Given the description of an element on the screen output the (x, y) to click on. 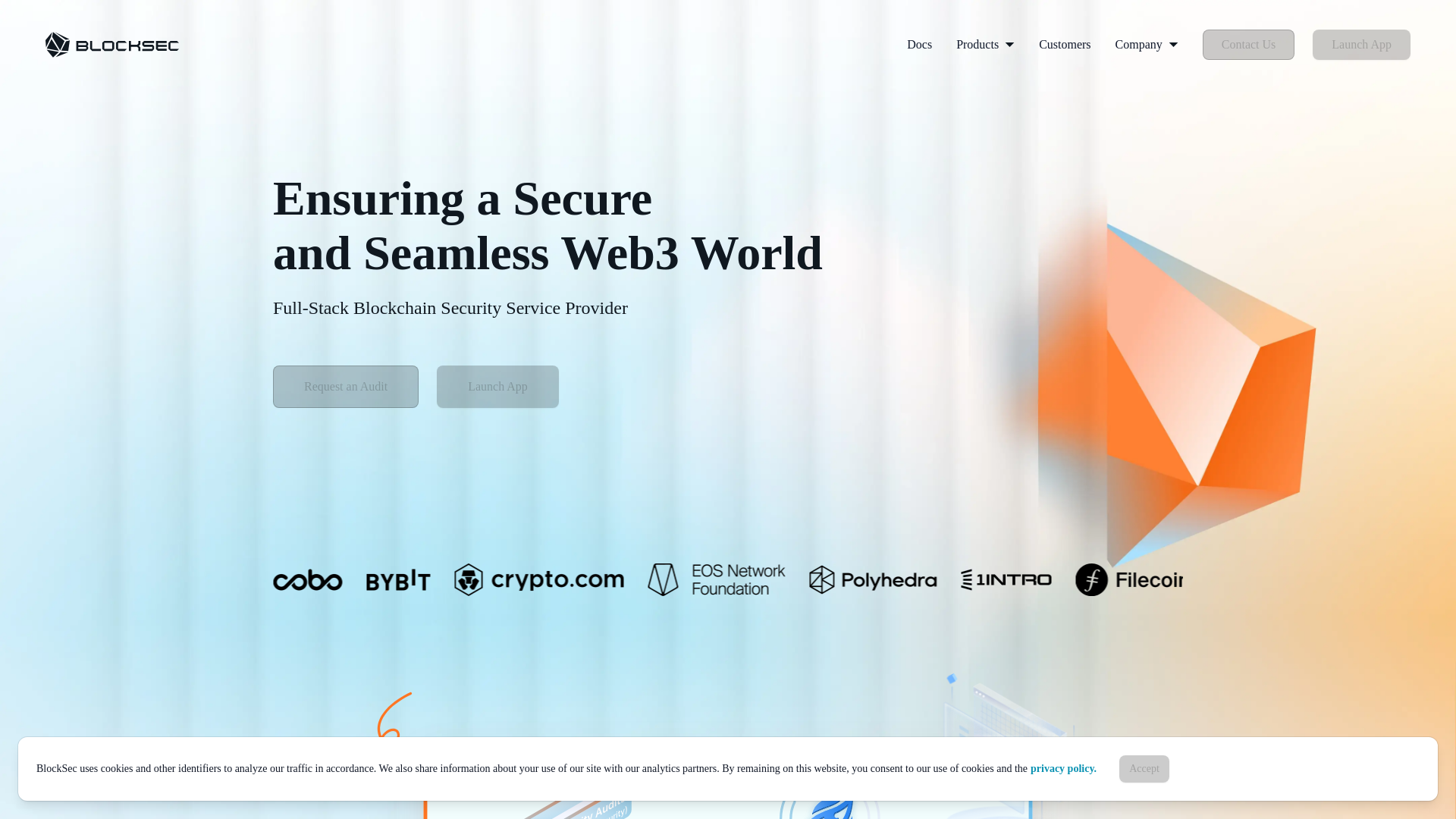
Request an Audit (346, 386)
Contact Us (1248, 44)
Launch App (1361, 44)
Launch App (497, 386)
Customers (1064, 44)
Phalcon (112, 44)
Docs (919, 44)
